Given the description of an element on the screen output the (x, y) to click on. 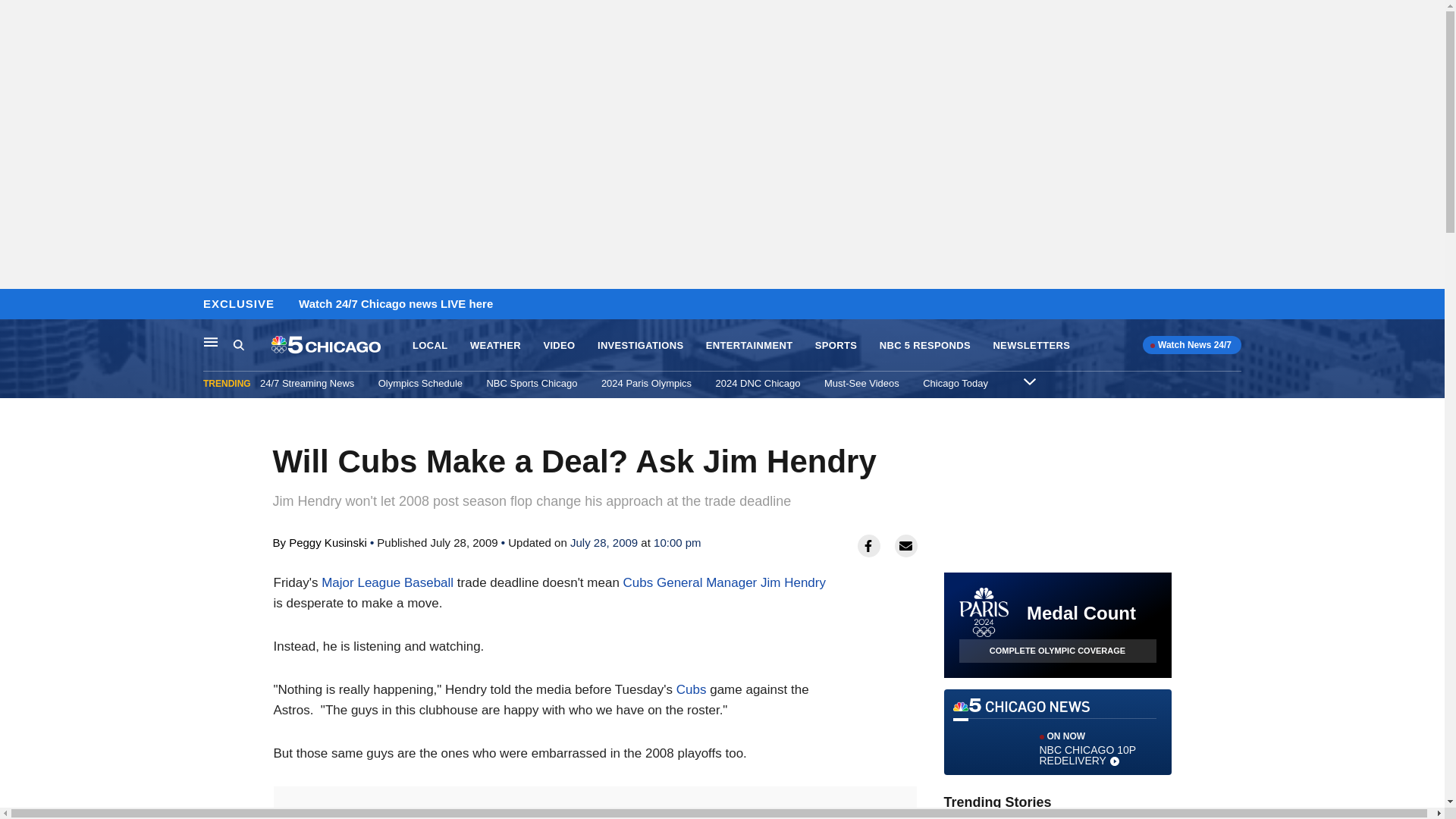
Chicago Cubs (691, 689)
INVESTIGATIONS (639, 345)
Olympics Schedule (1056, 731)
Cubs (420, 383)
Chicago Today (691, 689)
Cubs General Manager Jim Hendry (955, 383)
Major League Baseball (724, 582)
ENTERTAINMENT (386, 582)
NEWSLETTERS (749, 345)
Main Navigation (1031, 345)
NBC 5 RESPONDS (210, 341)
Jim Hendry (925, 345)
2024 Paris Olympics (724, 582)
Major League Baseball (646, 383)
